Given the description of an element on the screen output the (x, y) to click on. 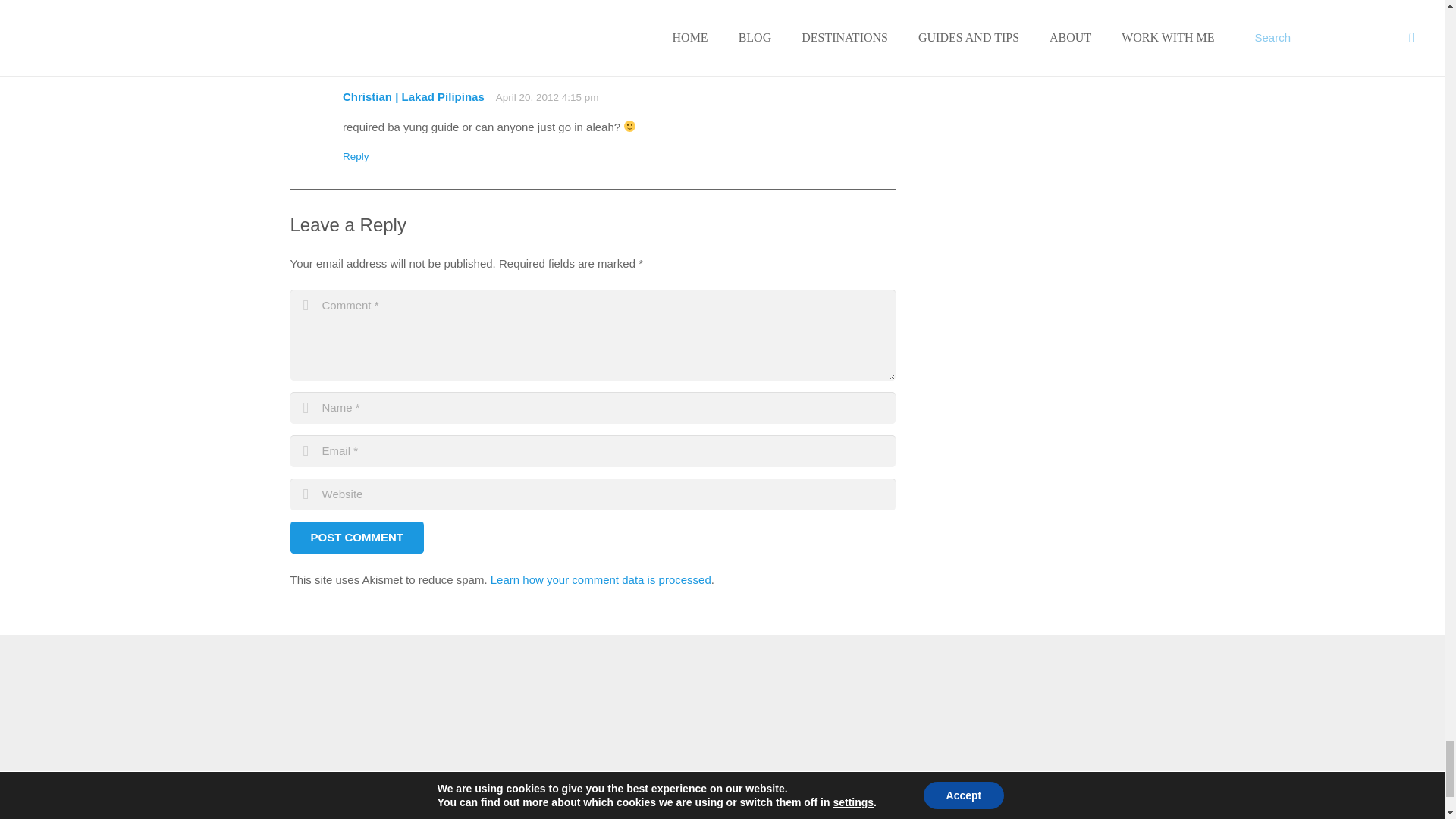
Post Comment (356, 537)
